Given the description of an element on the screen output the (x, y) to click on. 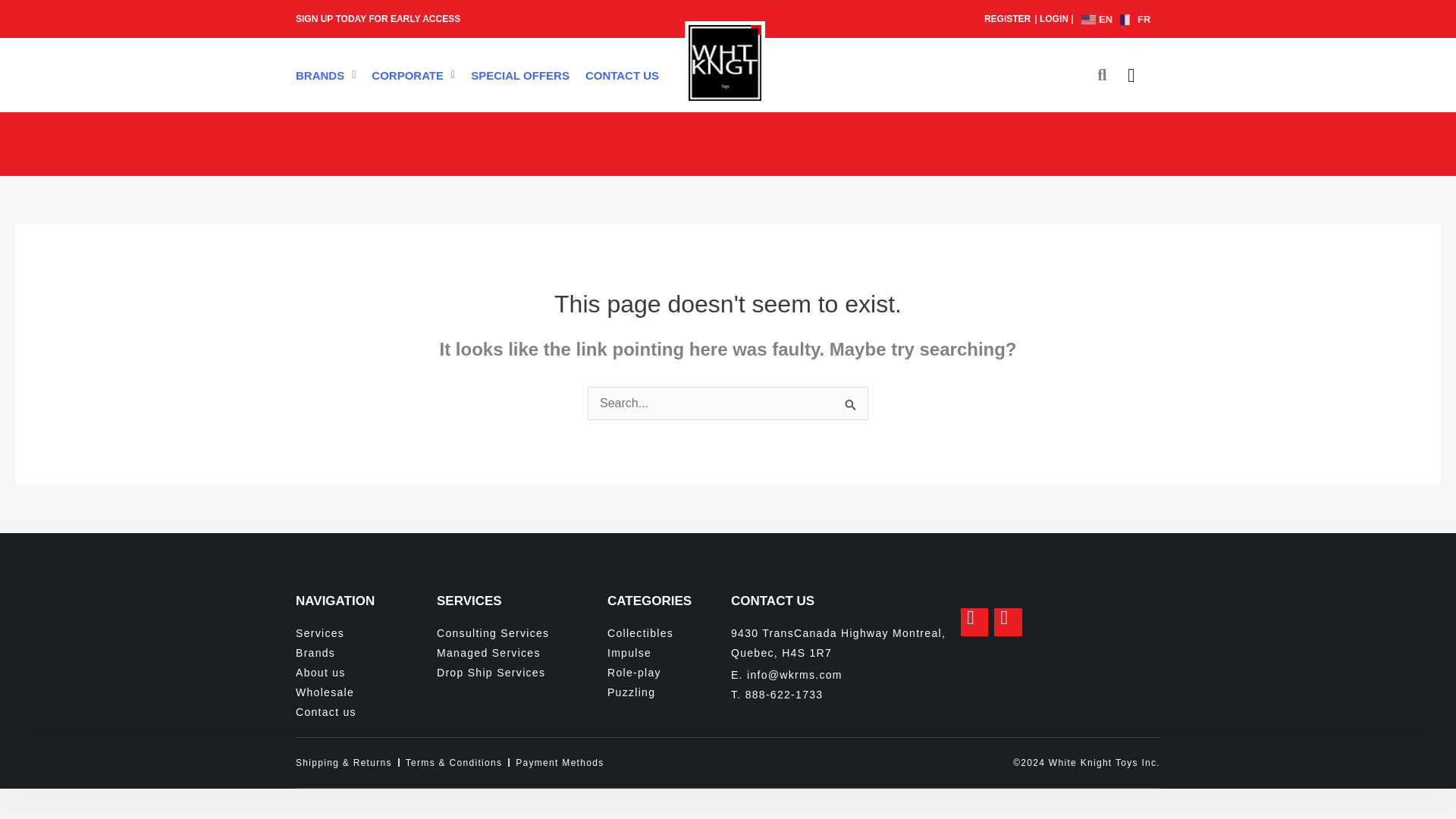
Impulse (668, 652)
Search (1093, 74)
Services (365, 632)
Facebook-f (974, 621)
Brands (365, 652)
BRANDS (325, 75)
CORPORATE (412, 75)
Managed Services (521, 652)
Collectibles (668, 632)
Drop Ship Services (521, 672)
Search (850, 405)
Consulting Services (521, 632)
REGISTER (1007, 18)
Puzzling (668, 691)
Instagram (1008, 621)
